Given the description of an element on the screen output the (x, y) to click on. 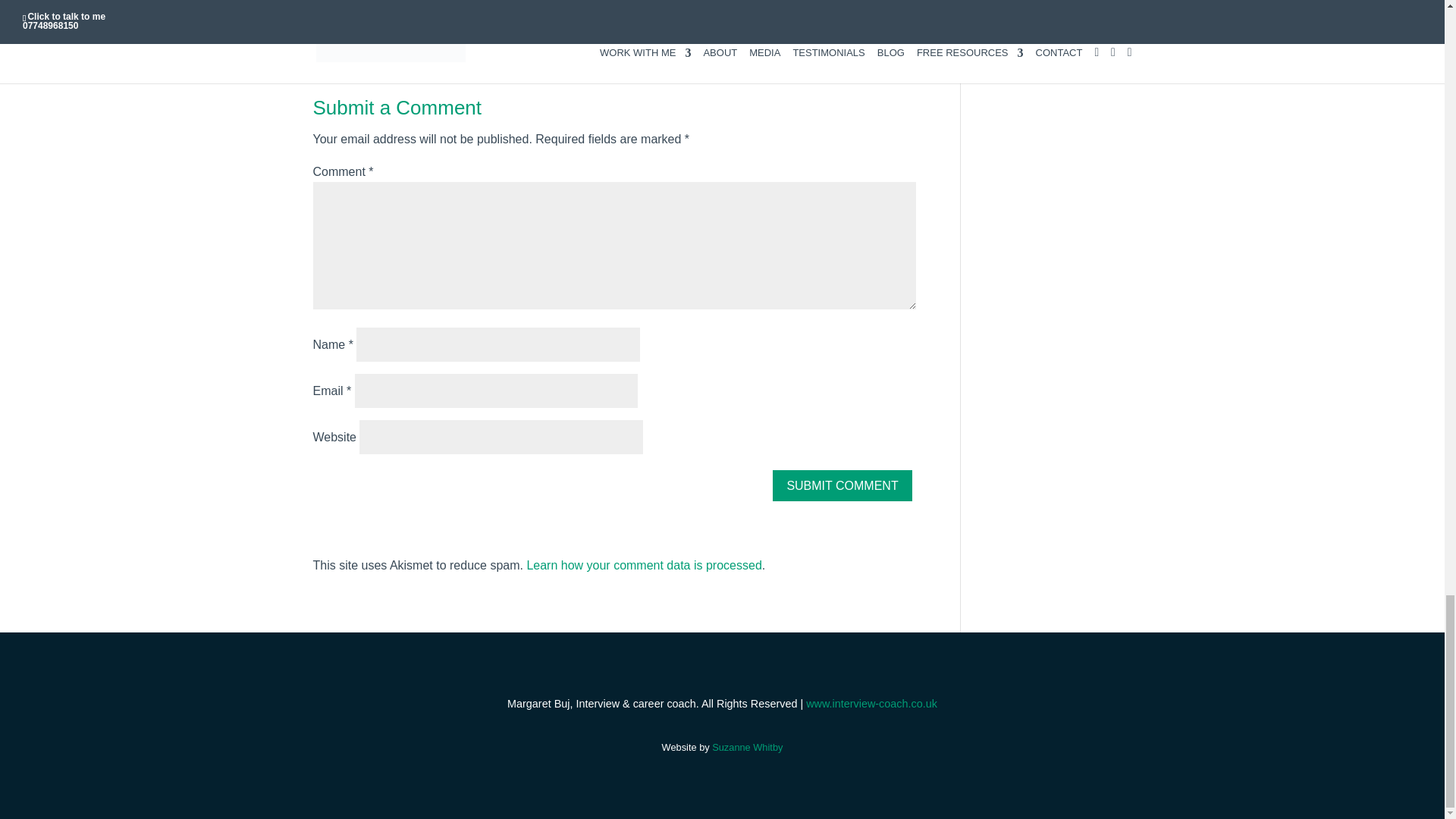
Submit Comment (842, 485)
Submit Comment (842, 485)
